Given the description of an element on the screen output the (x, y) to click on. 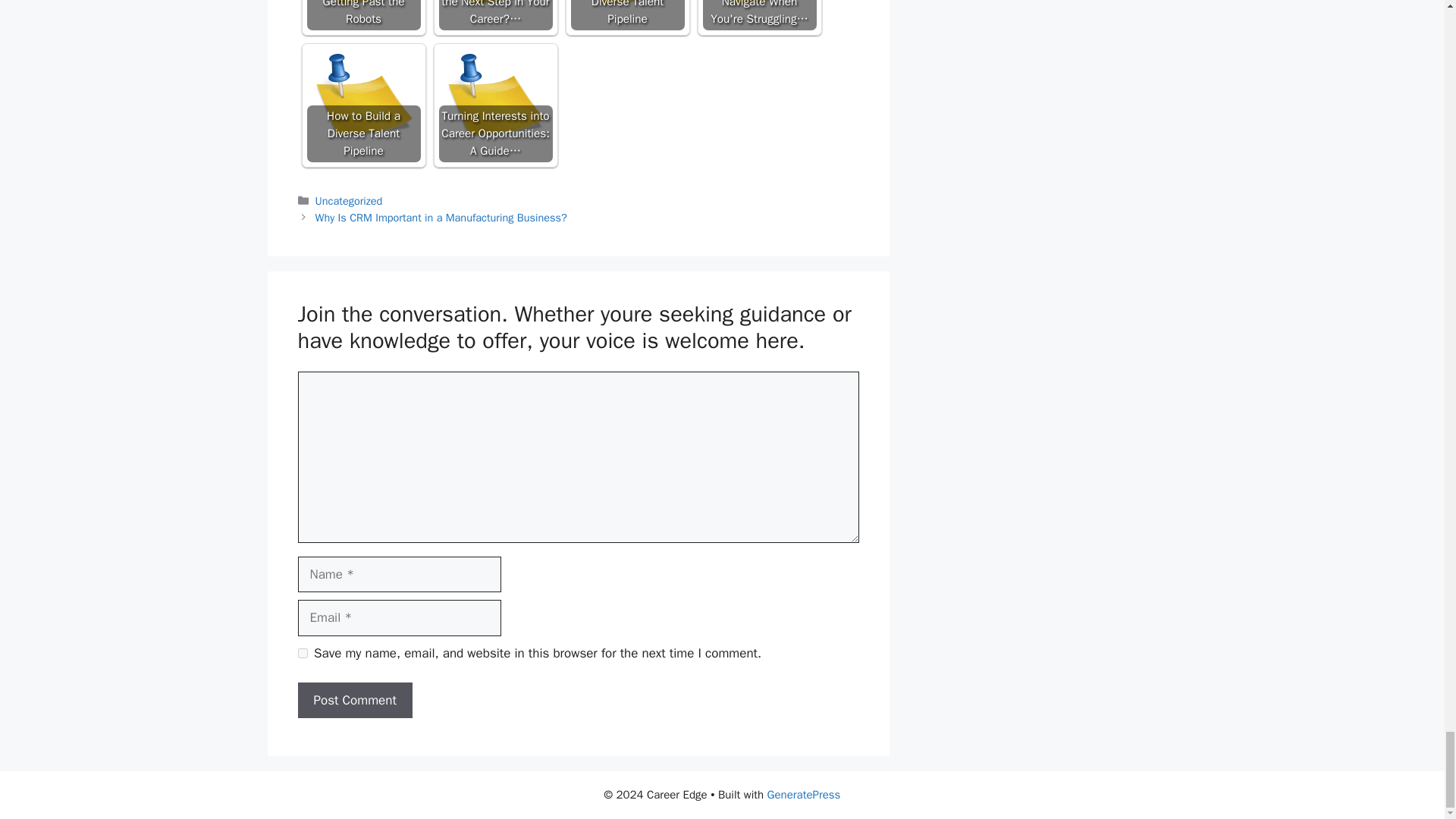
4 Steps to Build a Diverse Talent Pipeline (627, 15)
Post Comment (354, 699)
How to Build a Diverse Talent Pipeline (362, 105)
4 Steps to Build a Diverse Talent Pipeline (627, 15)
Why Is CRM Important in a Manufacturing Business? (441, 217)
Post Comment (354, 699)
How to Build a Diverse Talent Pipeline (362, 105)
Uncategorized (348, 201)
yes (302, 653)
